Given the description of an element on the screen output the (x, y) to click on. 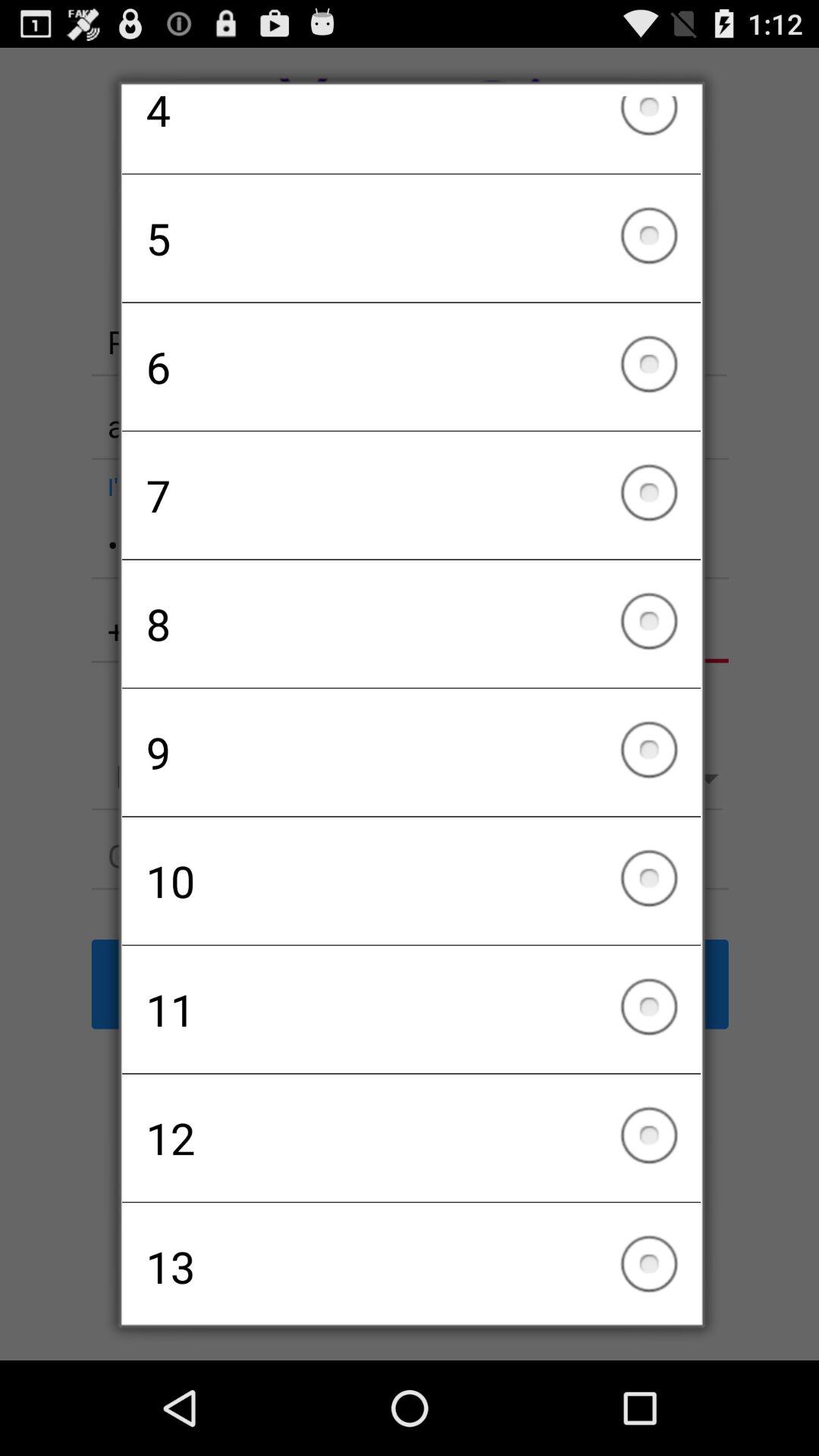
swipe until the 7 checkbox (411, 495)
